Given the description of an element on the screen output the (x, y) to click on. 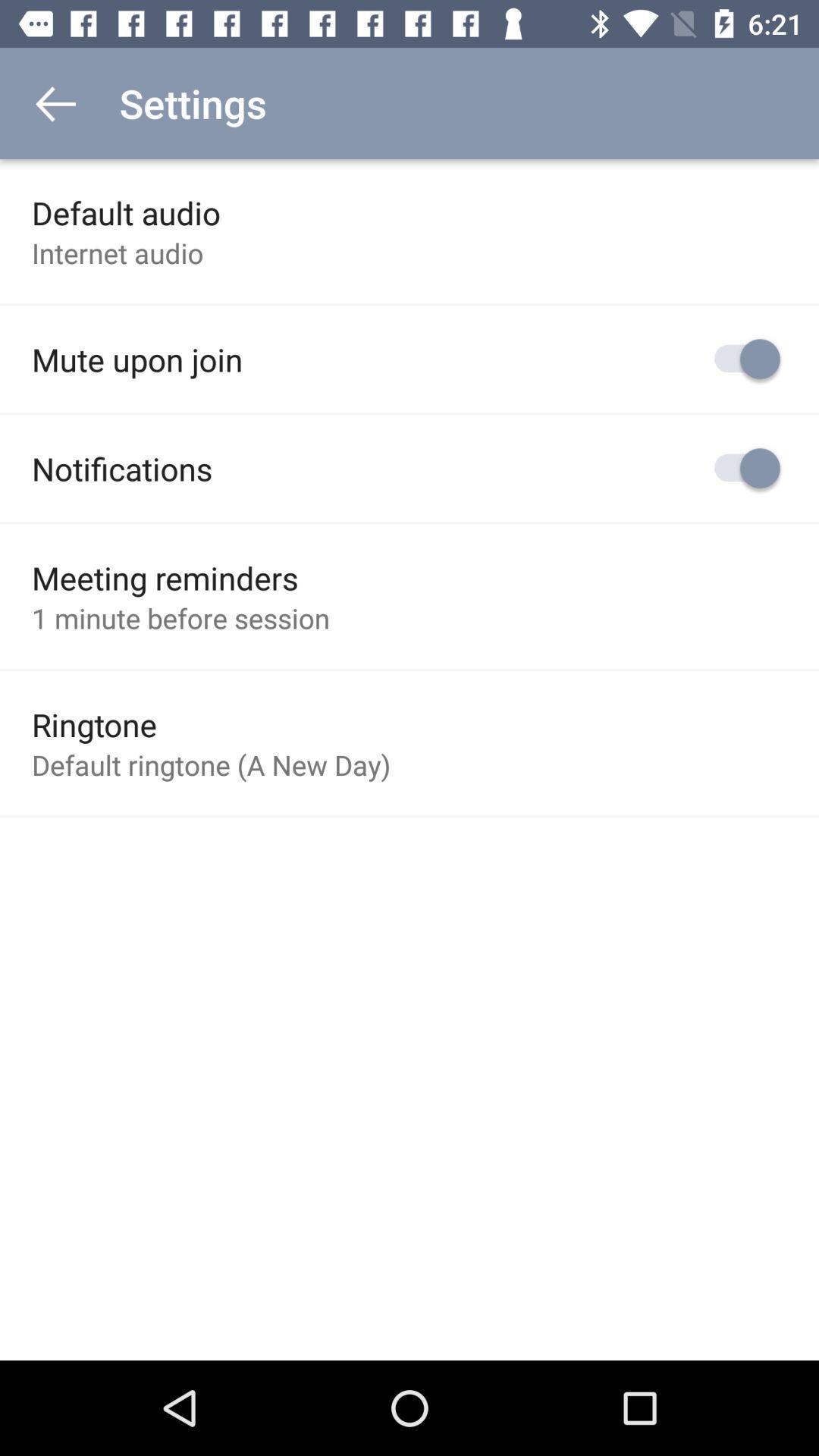
flip to the 1 minute before icon (180, 618)
